Given the description of an element on the screen output the (x, y) to click on. 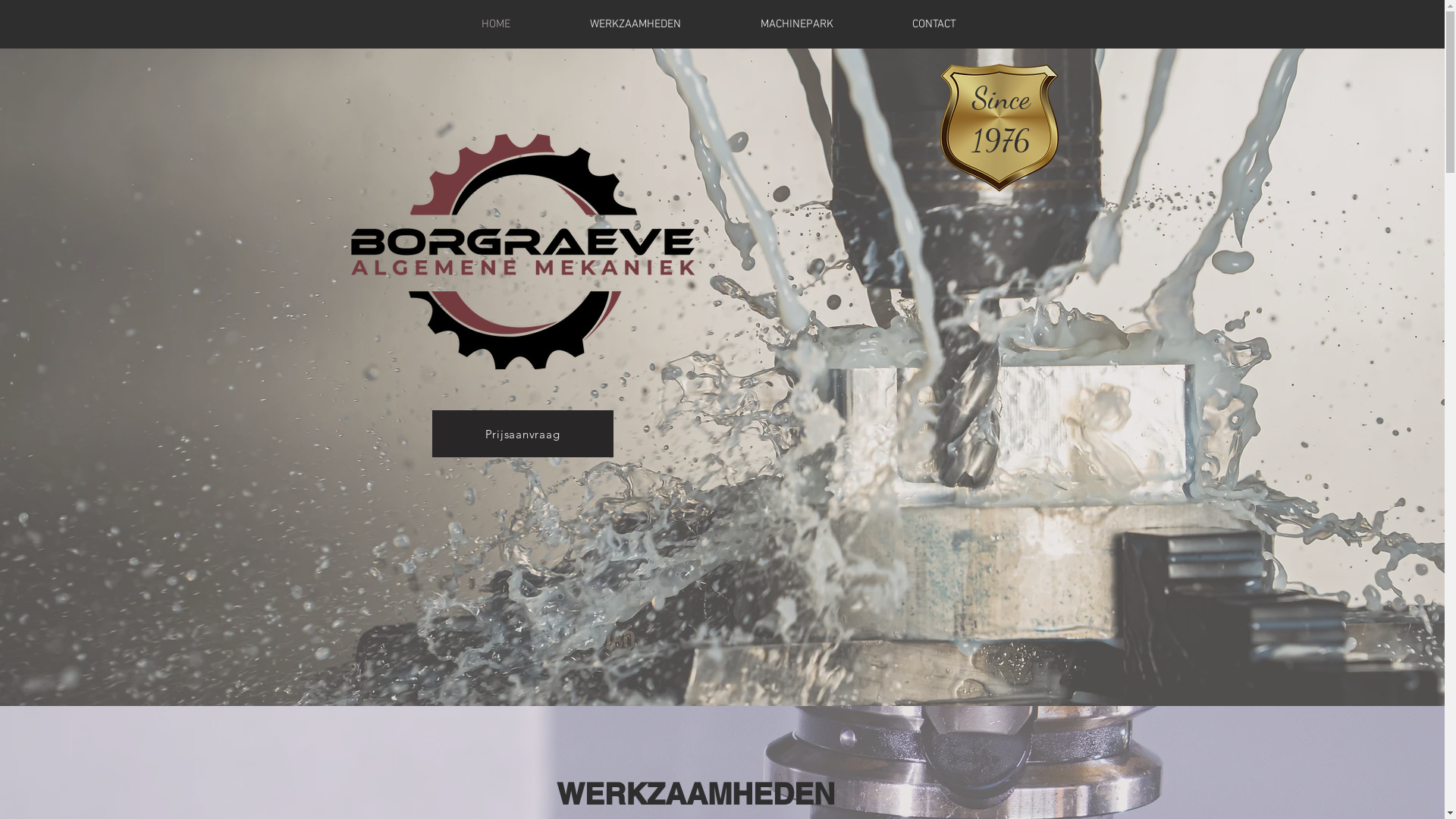
CONTACT Element type: text (933, 24)
MACHINEPARK Element type: text (796, 24)
HOME Element type: text (495, 24)
Prijsaanvraag Element type: text (522, 433)
WERKZAAMHEDEN Element type: text (635, 24)
